Given the description of an element on the screen output the (x, y) to click on. 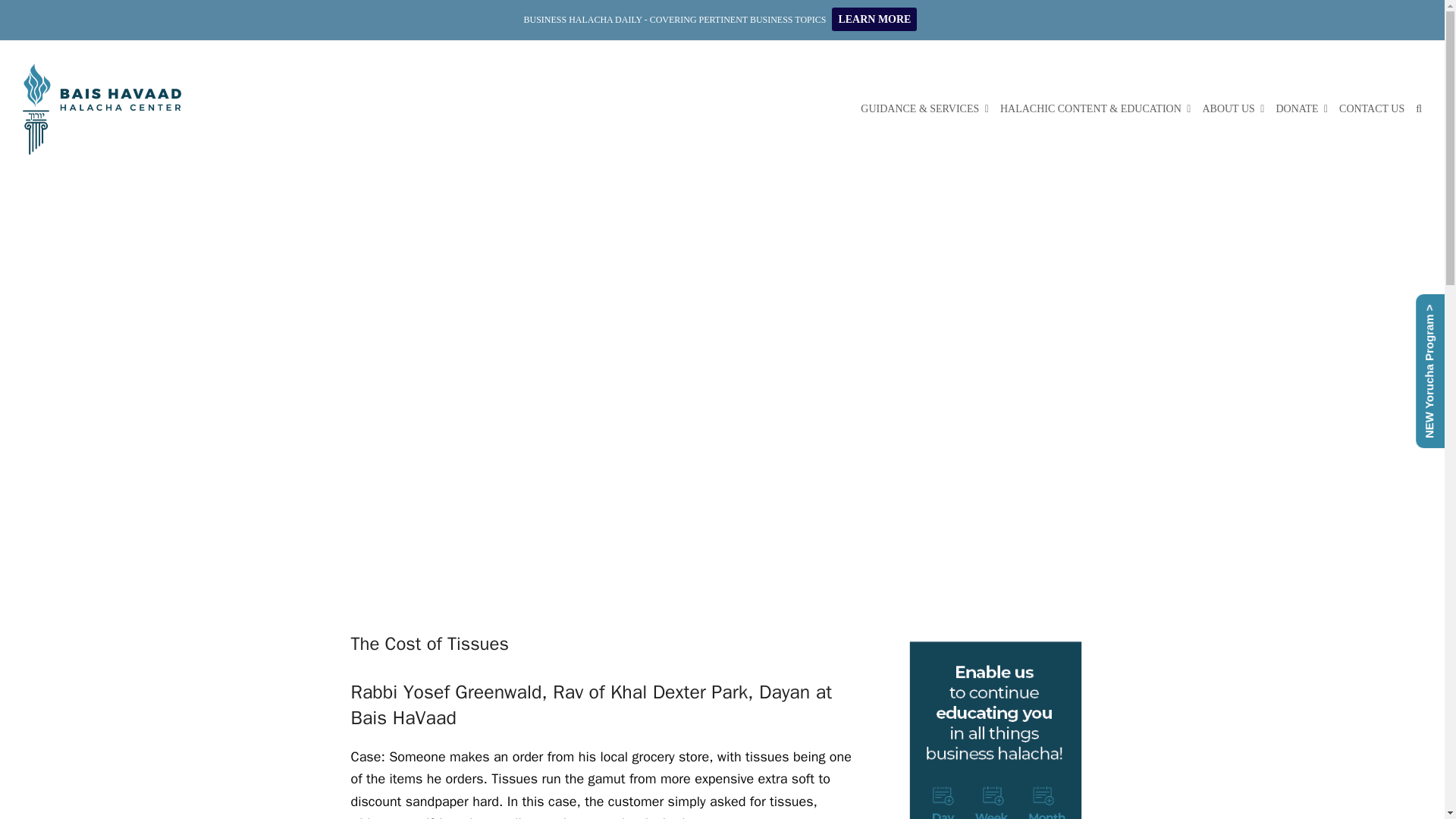
CONTACT US (1372, 108)
ABOUT US (1232, 108)
DONATE (1301, 108)
LEARN MORE (874, 19)
